Given the description of an element on the screen output the (x, y) to click on. 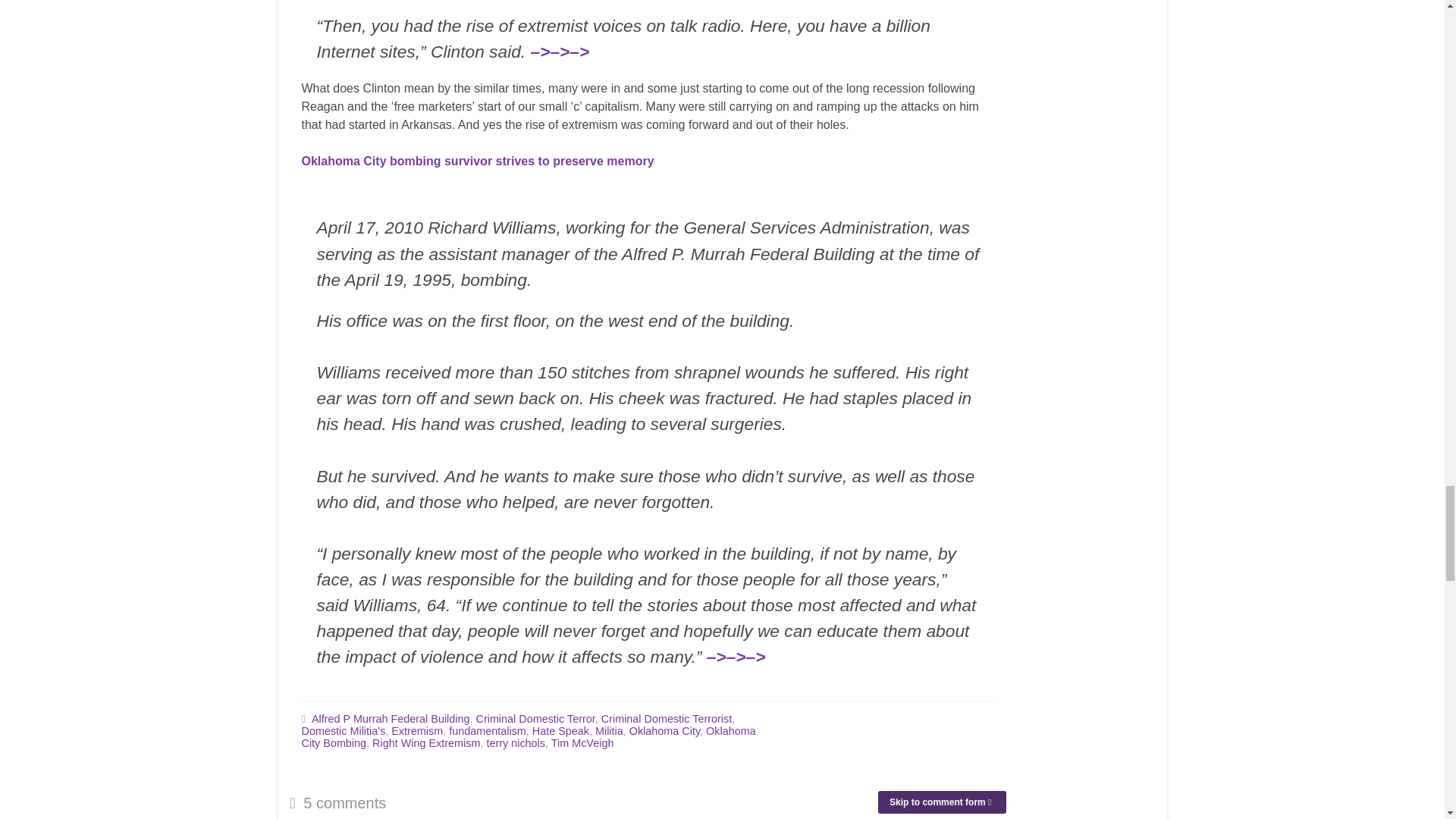
Oklahoma City Bombing (528, 736)
Domestic Militia's (343, 730)
Alfred P Murrah Federal Building (390, 718)
Oklahoma City (664, 730)
fundamentalism (486, 730)
Hate Speak (560, 730)
Right Wing Extremism (426, 743)
Criminal Domestic Terrorist (666, 718)
Extremism (416, 730)
Oklahoma City bombing survivor strives to preserve memory (477, 160)
Militia (609, 730)
Tim McVeigh (582, 743)
terry nichols (515, 743)
Skip to comment form (941, 802)
Criminal Domestic Terror (535, 718)
